Given the description of an element on the screen output the (x, y) to click on. 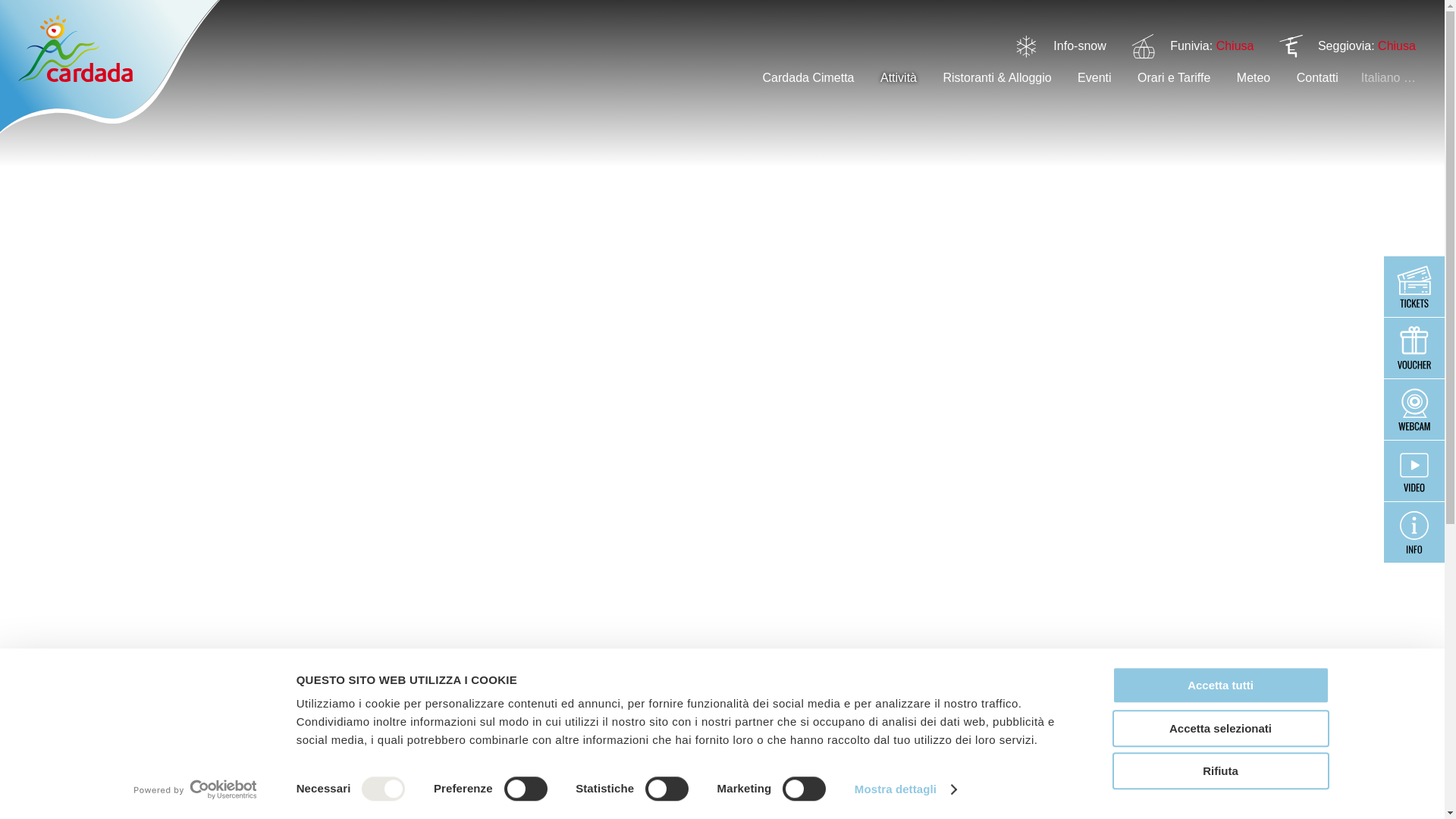
Meteo Element type: text (1253, 77)
Rifiuta Element type: text (1219, 770)
Accetta tutti Element type: text (1219, 684)
Grand Tour of Switzerland Element type: text (261, 715)
Cardada Cimetta Element type: text (808, 77)
Parapendio Element type: text (860, 715)
Racchette da neve Element type: text (1097, 715)
Cardada Element type: text (109, 66)
Famiglia & Divertimento Element type: text (107, 715)
Orari e Tariffe Element type: text (1173, 77)
Contatti Element type: text (1317, 77)
Nordic Walking Element type: text (577, 715)
Info Element type: text (1413, 532)
Percorso sorgenti Veroniche Element type: text (1324, 715)
Geocaching Element type: text (486, 715)
Corsa d'Orientamento Element type: text (969, 715)
Mostra dettagli Element type: text (905, 789)
Biglietti Element type: text (1413, 286)
Accetta selezionati Element type: text (1219, 727)
Ristoranti & Alloggio Element type: text (996, 77)
Video Element type: text (1413, 470)
Mountain Bike Element type: text (772, 715)
Eventi Element type: text (1093, 77)
Info-snow Element type: text (1079, 45)
Parchi slitte Element type: text (1198, 715)
Swing the world Element type: text (392, 715)
Escursionismo Element type: text (676, 715)
Webcam Element type: text (1413, 409)
Italiano Element type: text (1388, 77)
Buoni Element type: text (1413, 347)
